Given the description of an element on the screen output the (x, y) to click on. 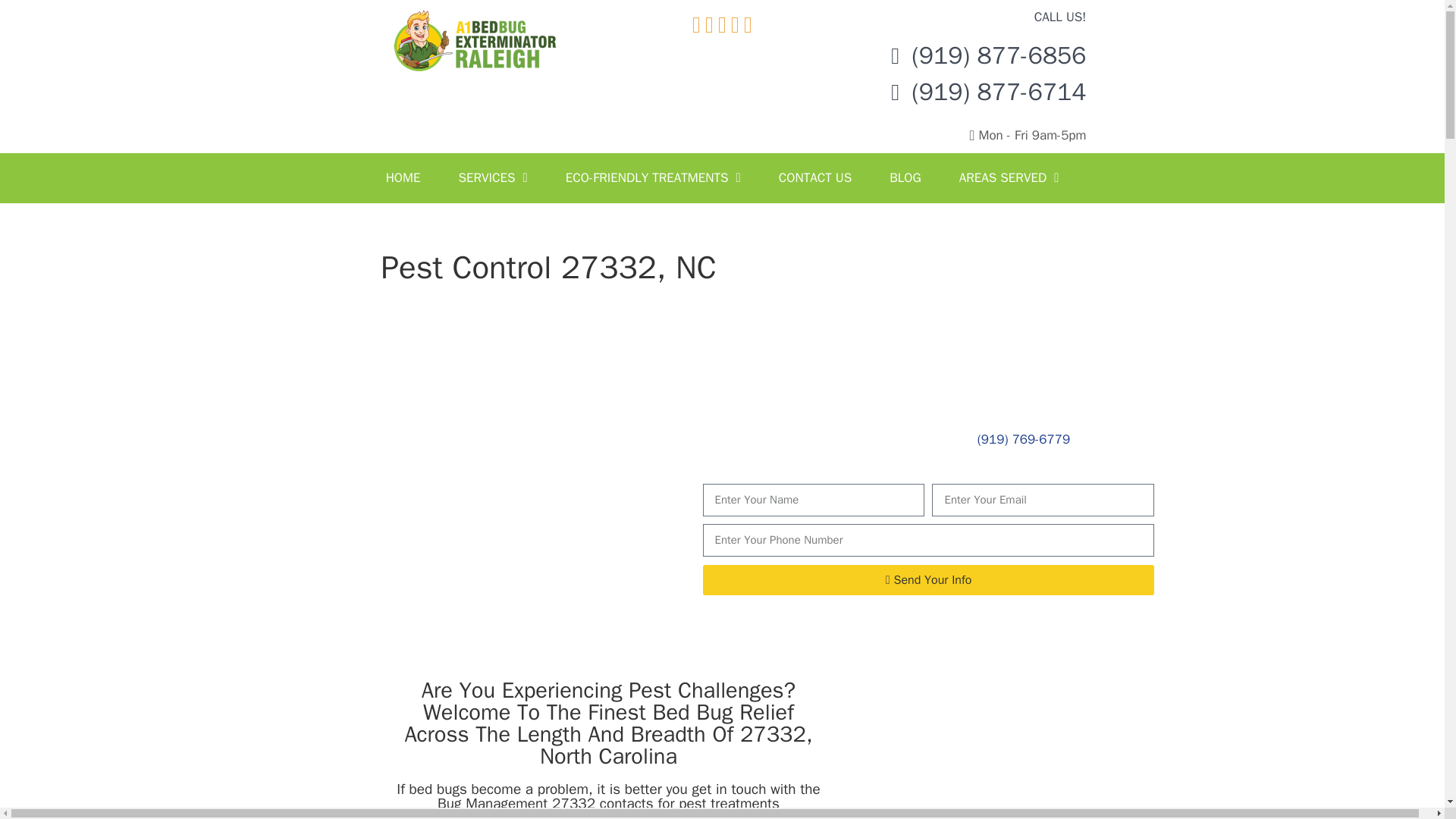
CONTACT US (815, 177)
SERVICES (493, 177)
BLOG (904, 177)
HOME (402, 177)
ECO-FRIENDLY TREATMENTS (653, 177)
AREAS SERVED (1009, 177)
